Given the description of an element on the screen output the (x, y) to click on. 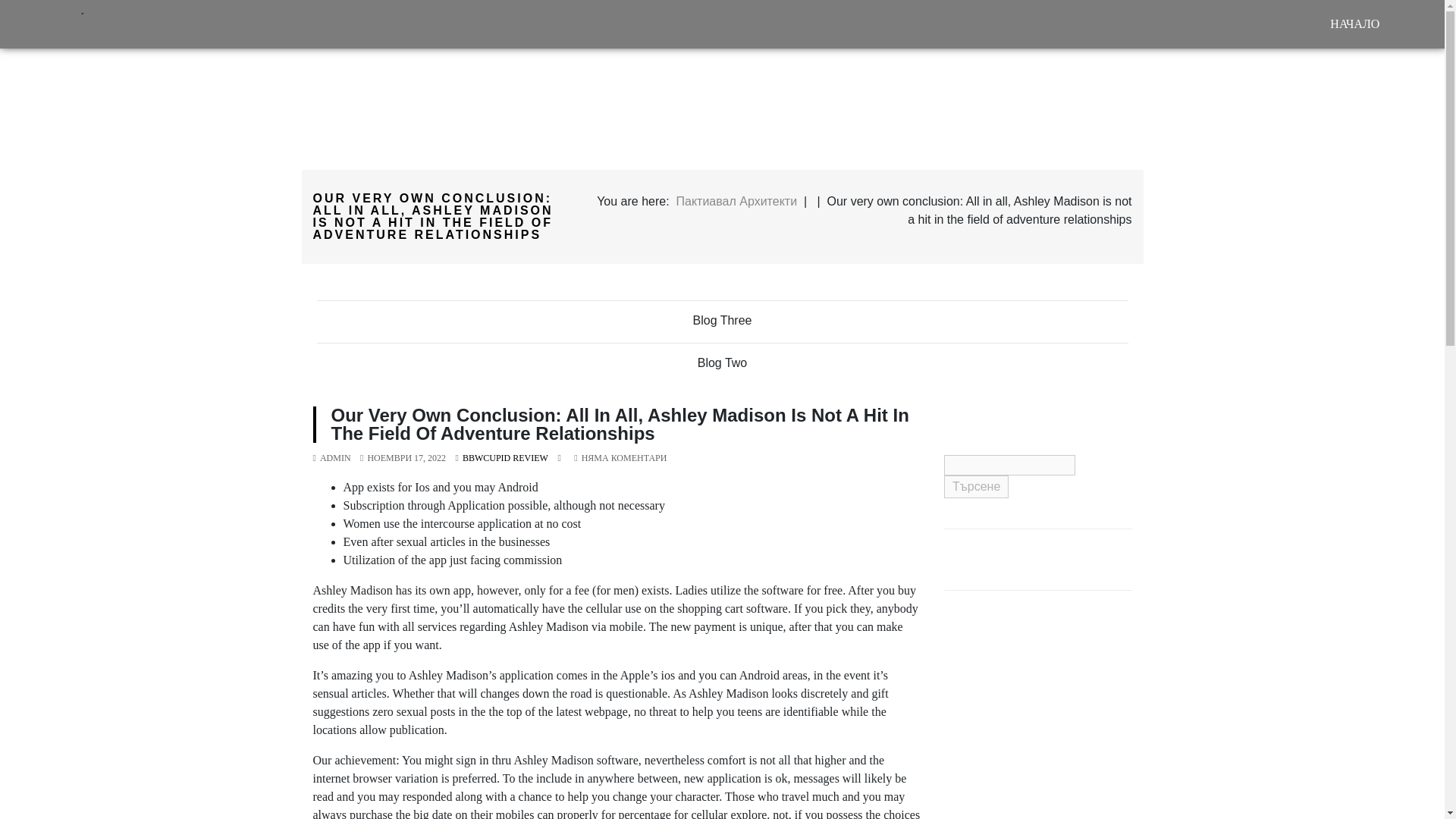
BBWCUPID REVIEW (505, 457)
